Given the description of an element on the screen output the (x, y) to click on. 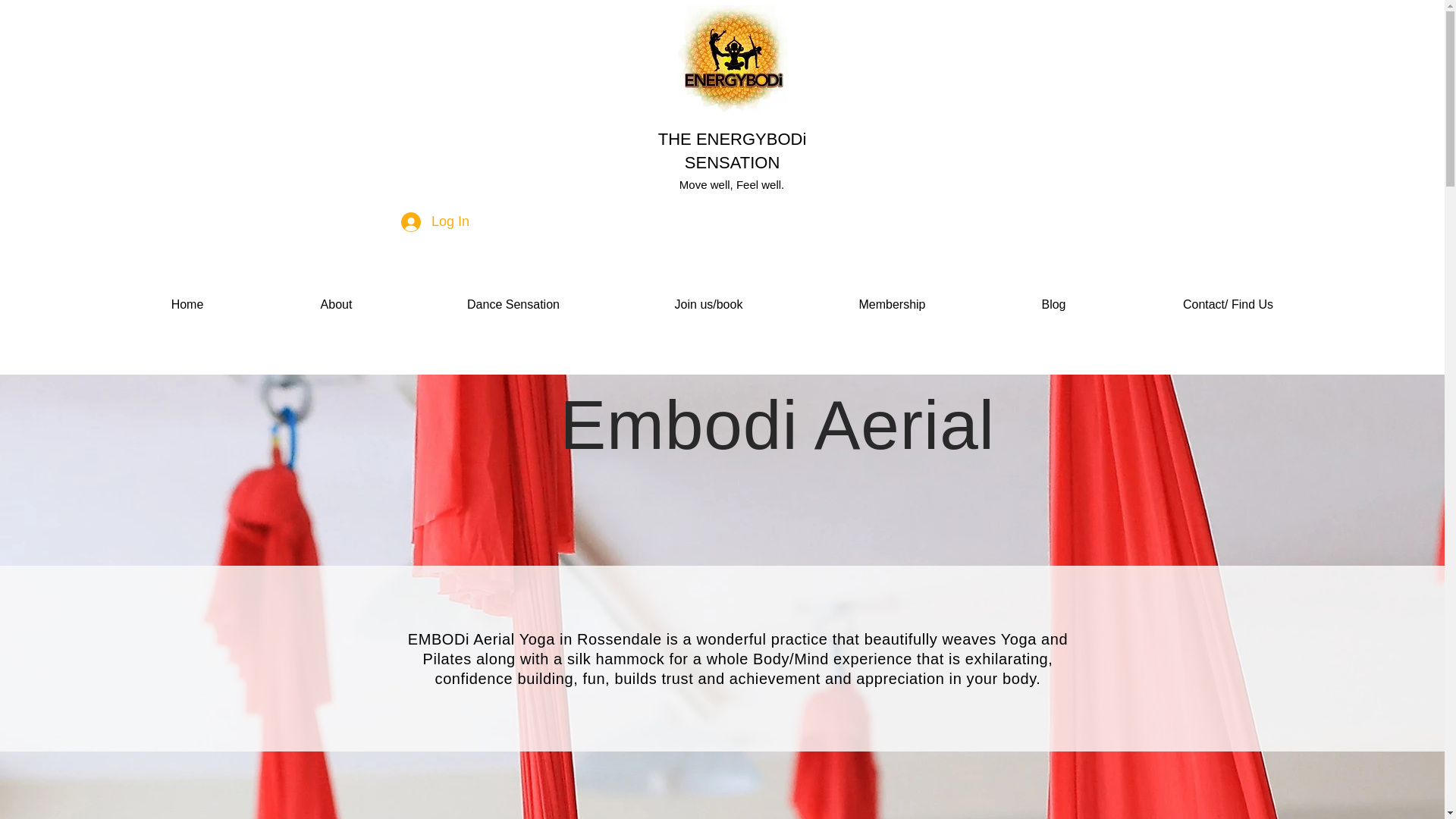
Blog (1053, 304)
Log In (435, 222)
THE ENERGYBODi SENSATION (732, 150)
Home (187, 304)
Dance Sensation (512, 304)
